Given the description of an element on the screen output the (x, y) to click on. 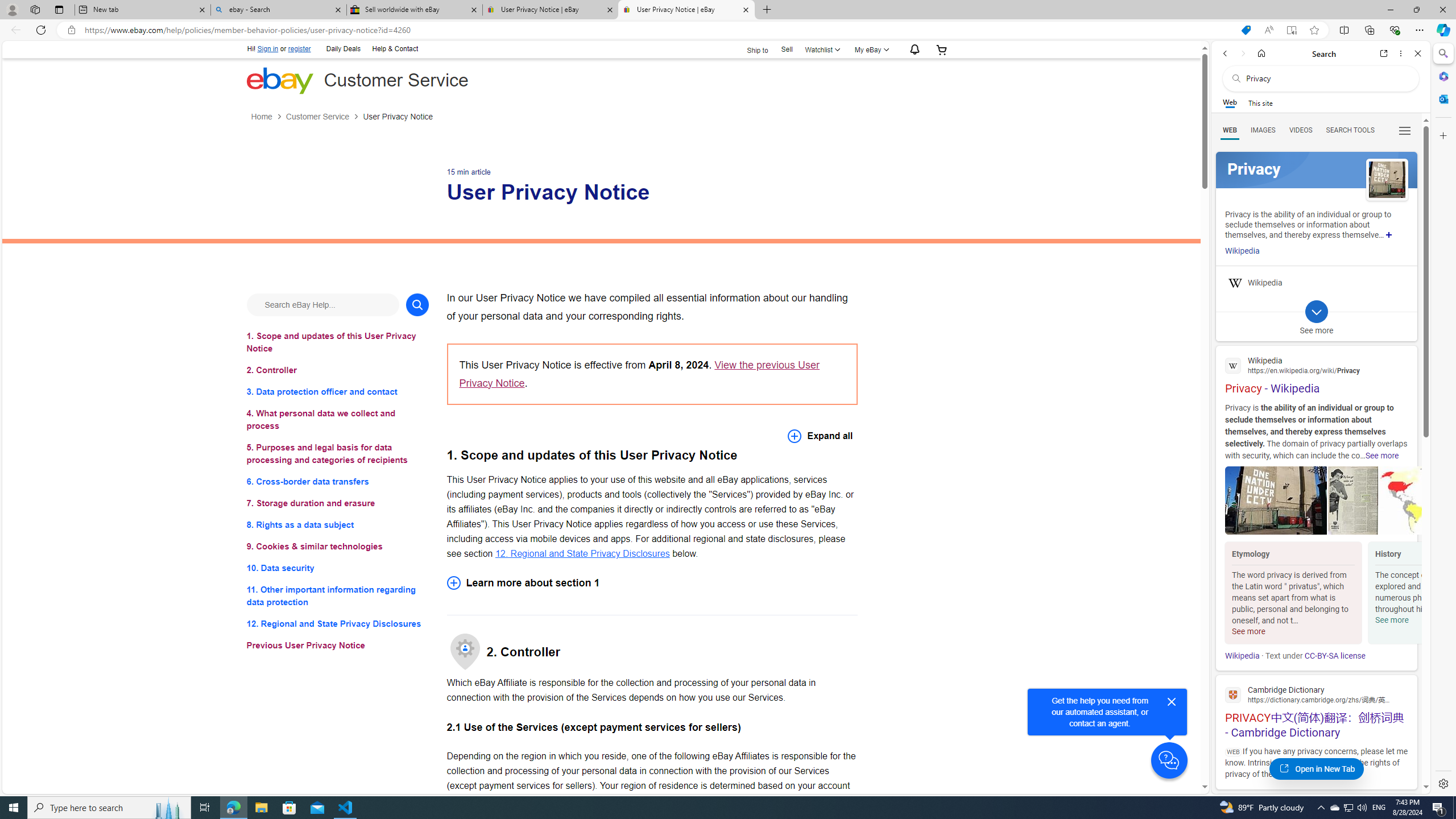
register (299, 49)
IMAGES (1262, 130)
7. Storage duration and erasure (337, 503)
View the previous User Privacy Notice (638, 373)
Search Filter, Search Tools (1350, 129)
Expand Cart (941, 49)
Search Filter, IMAGES (1262, 129)
10. Data security (337, 567)
6. Cross-border data transfers (337, 481)
